Given the description of an element on the screen output the (x, y) to click on. 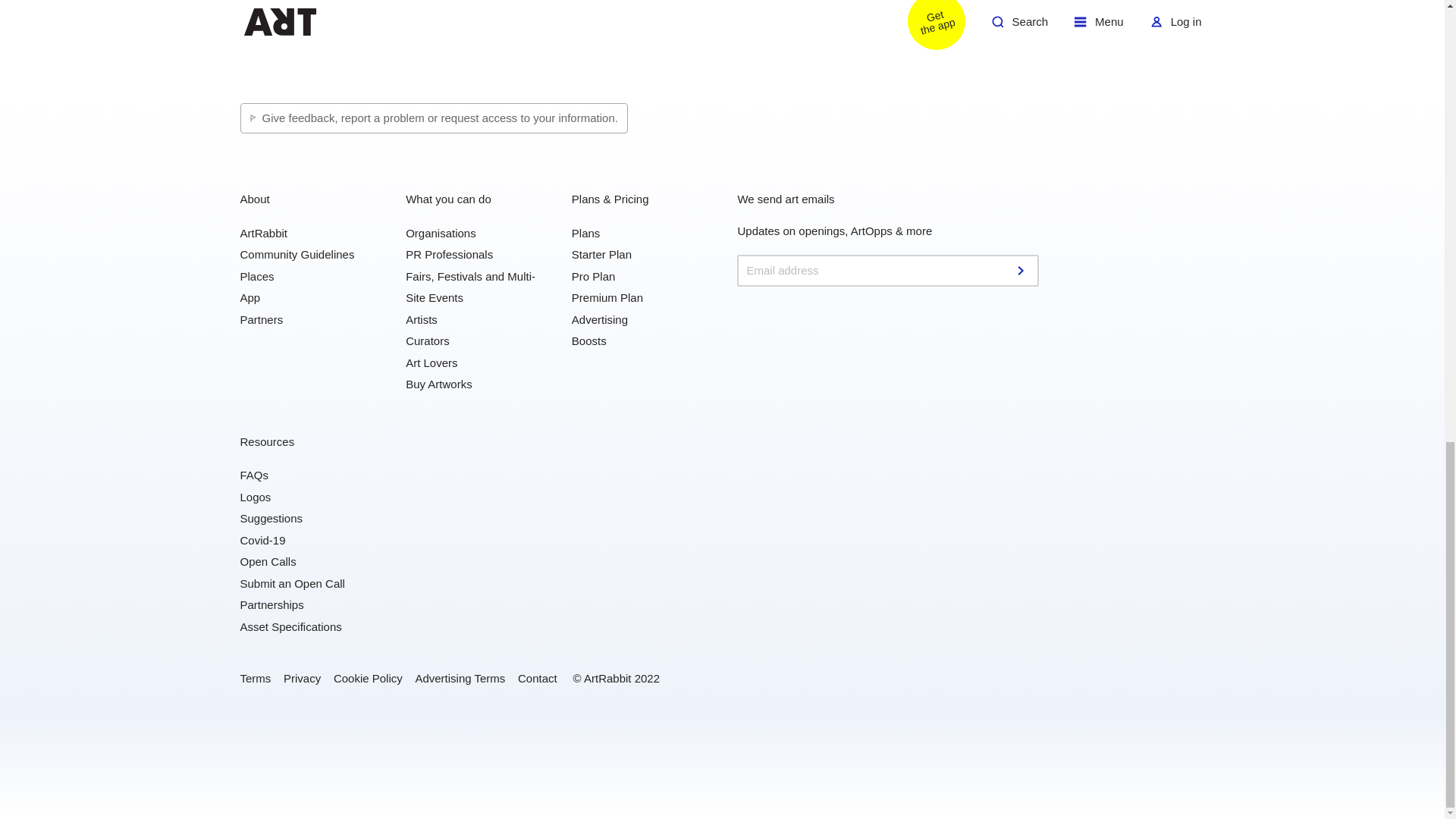
submit (1021, 270)
